Given the description of an element on the screen output the (x, y) to click on. 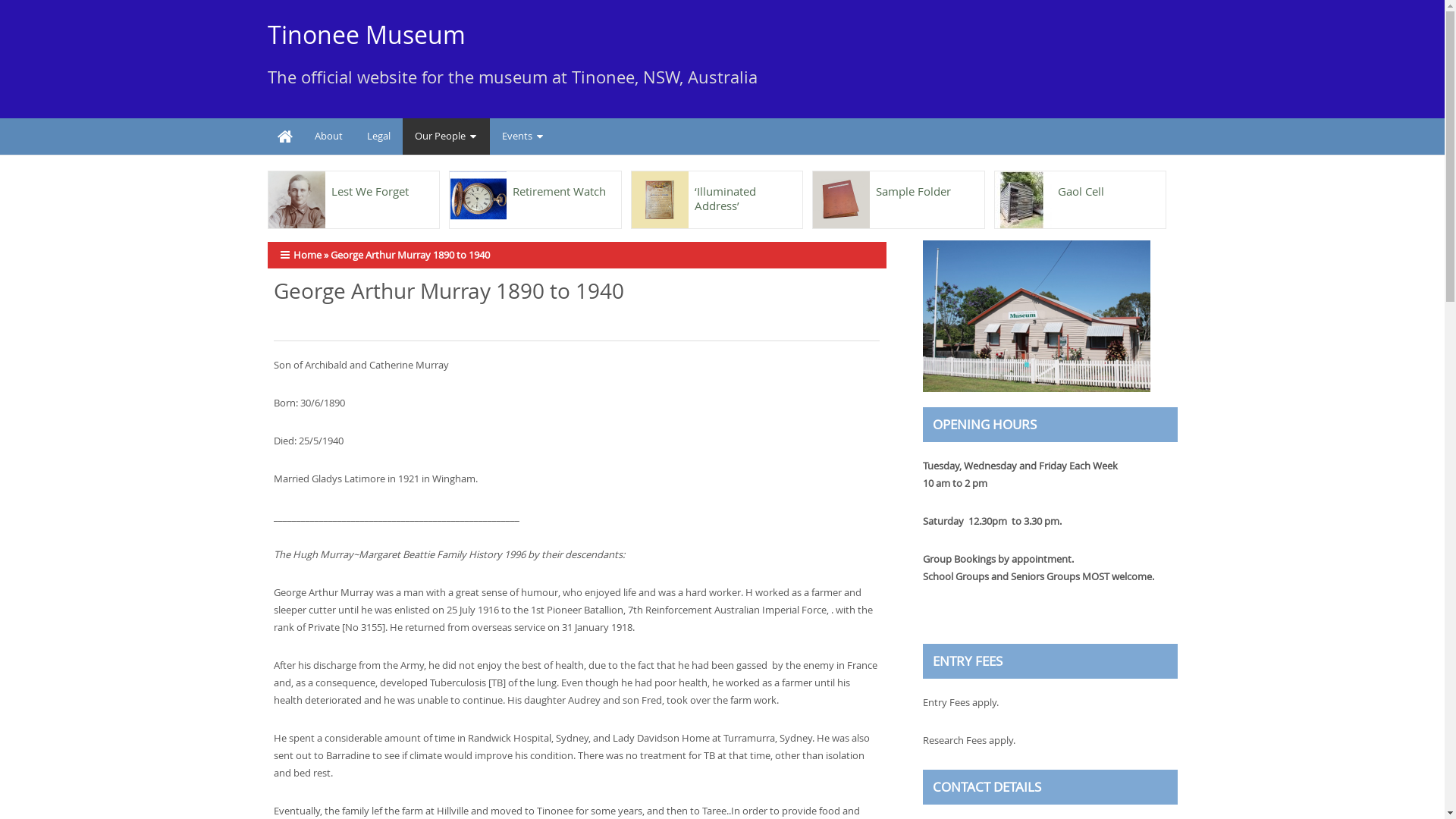
Sample Folder Element type: text (898, 184)
Home Element type: hover (283, 136)
Gaol Cell Element type: text (1080, 184)
Retirement Watch Element type: text (535, 184)
About Element type: text (327, 136)
Legal Element type: text (378, 136)
Lest We Forget Element type: text (353, 184)
Home Element type: text (306, 254)
Tinonee Museum Element type: text (365, 34)
Our People Element type: text (445, 136)
Events Element type: text (522, 136)
